Given the description of an element on the screen output the (x, y) to click on. 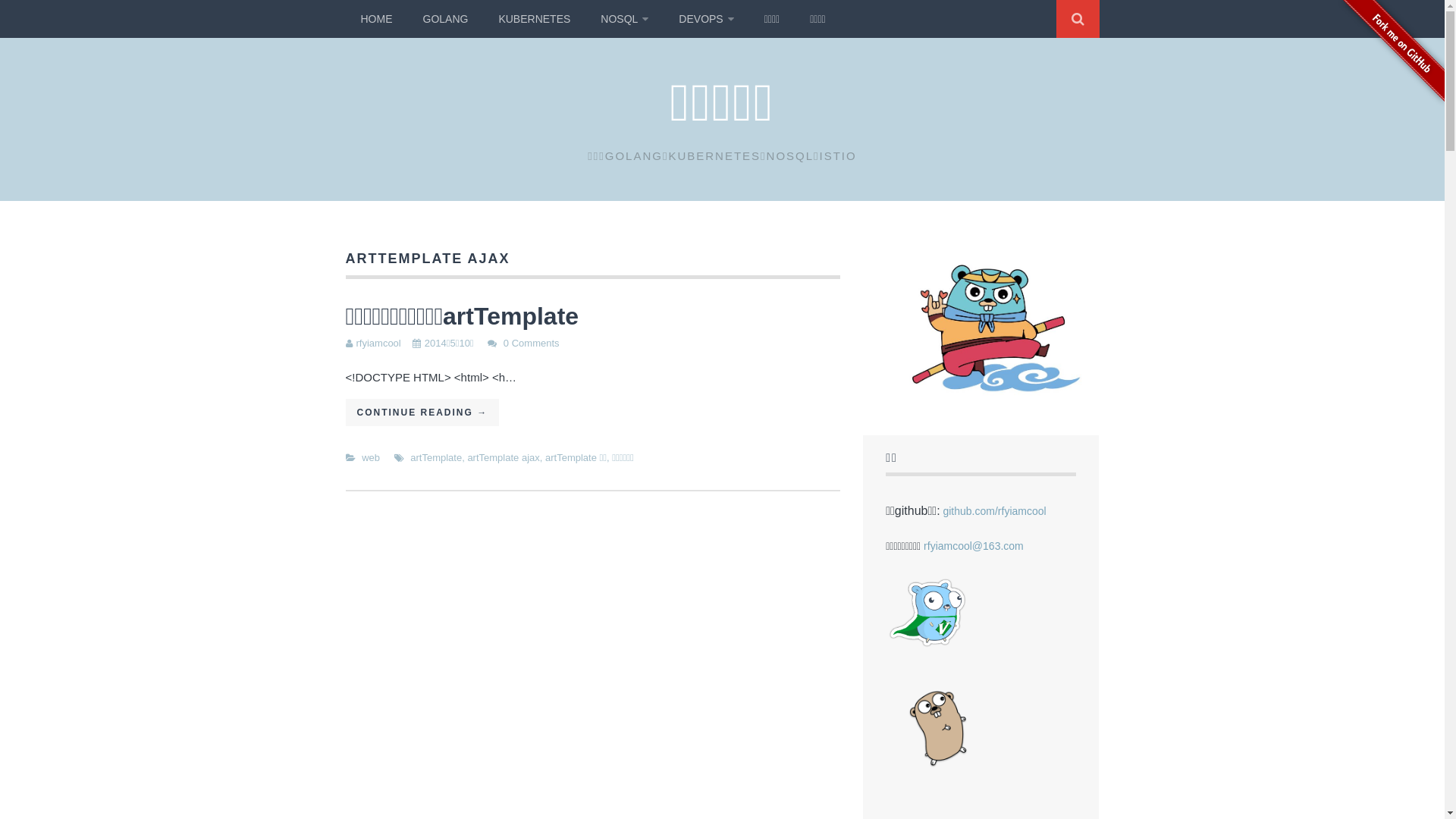
web Element type: text (370, 457)
NOSQL Element type: text (624, 18)
artTemplate Element type: text (435, 457)
GOLANG Element type: text (445, 18)
HOME Element type: text (376, 18)
0 Comments Element type: text (531, 342)
rfyiamcool@163.com Element type: text (973, 545)
DEVOPS Element type: text (705, 18)
github.com/rfyiamcool Element type: text (993, 511)
artTemplate ajax Element type: text (503, 457)
KUBERNETES Element type: text (534, 18)
rfyiamcool Element type: text (378, 342)
